Given the description of an element on the screen output the (x, y) to click on. 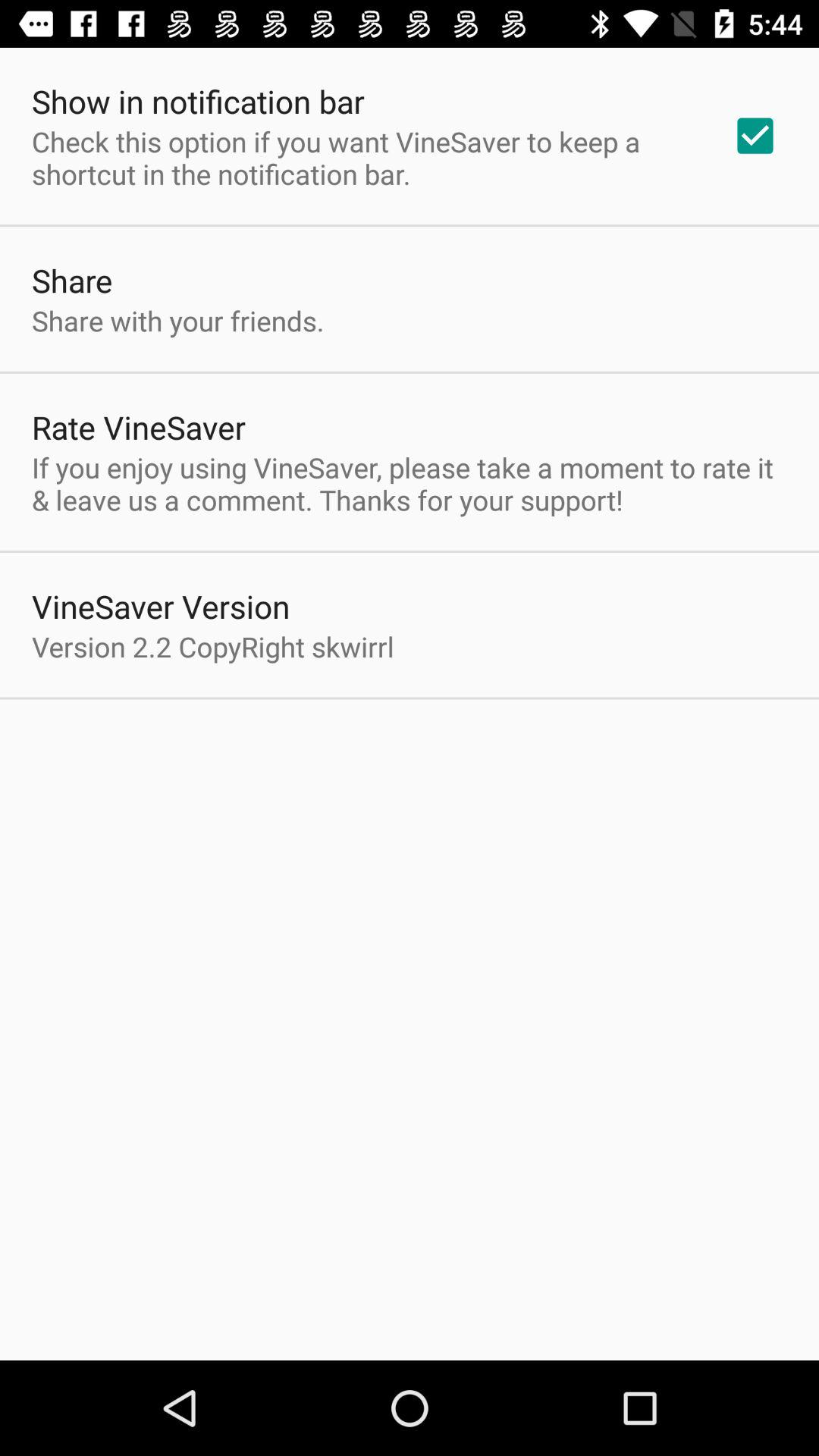
jump until the vinesaver version app (160, 605)
